Given the description of an element on the screen output the (x, y) to click on. 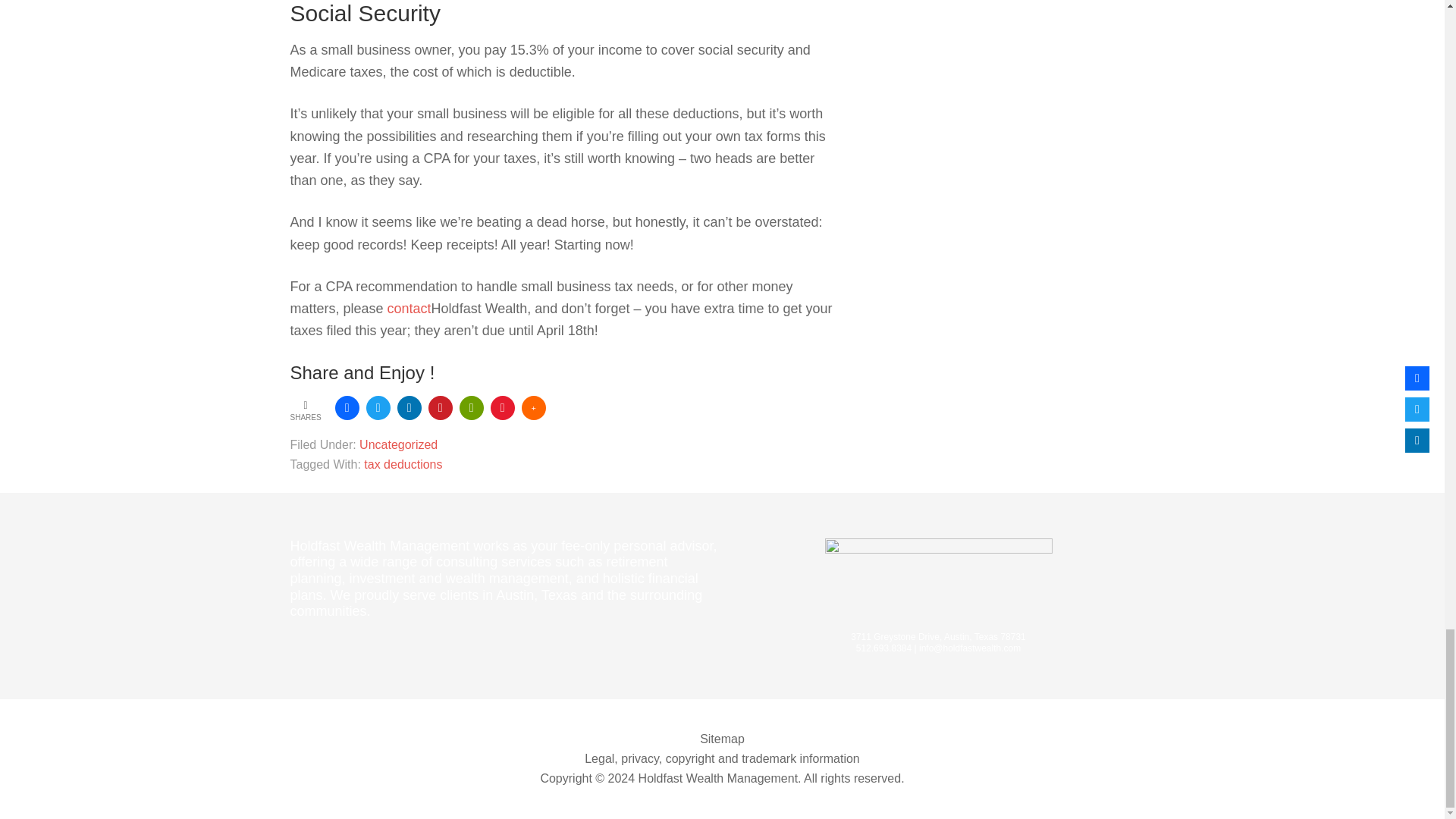
Print this article  (471, 407)
Add this to LinkedIn (409, 407)
Share this on Facebook (346, 407)
contact (408, 308)
Tweet this ! (378, 407)
Convert to PDF (502, 407)
More share links (533, 407)
Submit this to Pinterest (440, 407)
